Given the description of an element on the screen output the (x, y) to click on. 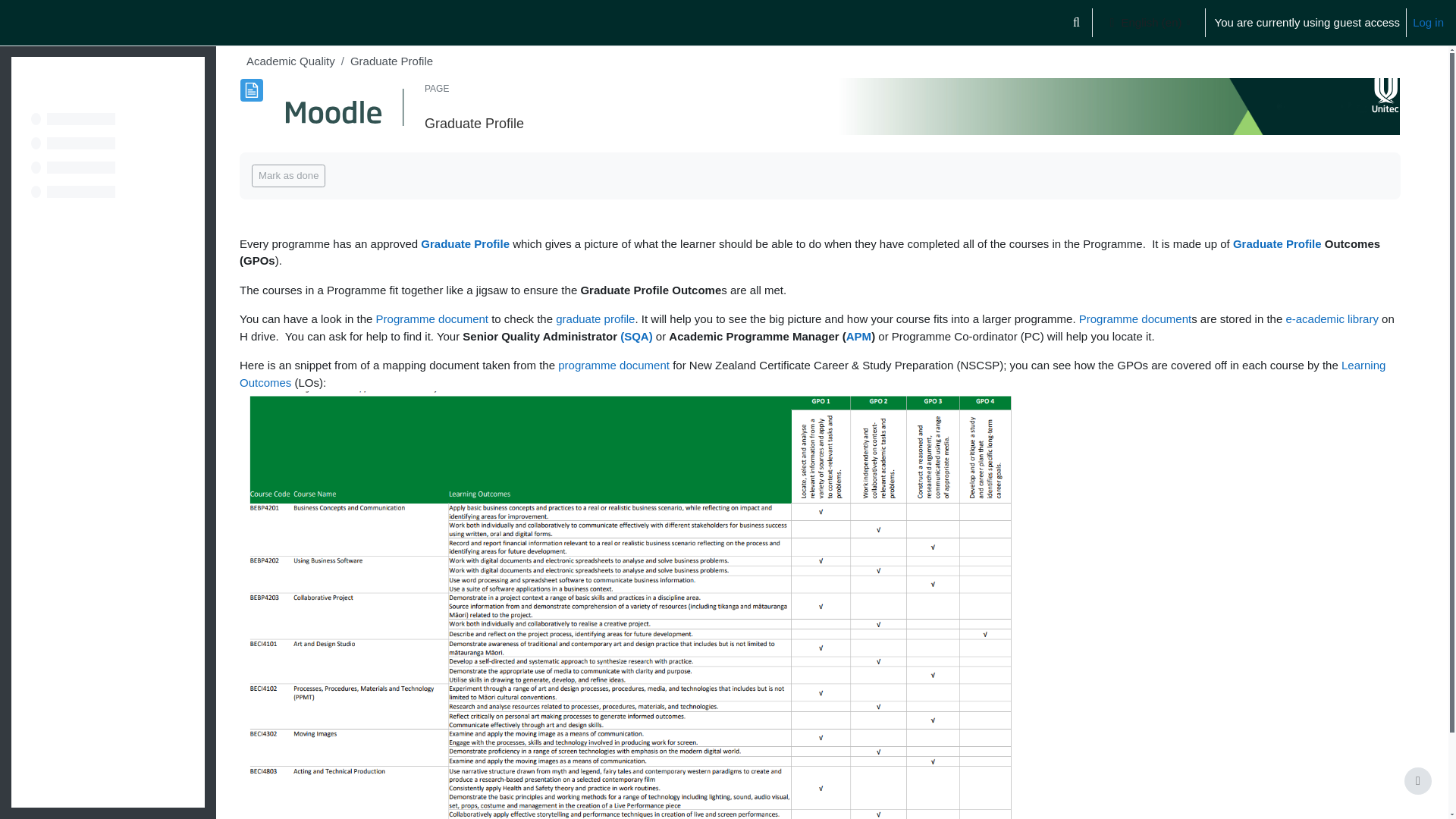
Academic Quality (290, 60)
